Given the description of an element on the screen output the (x, y) to click on. 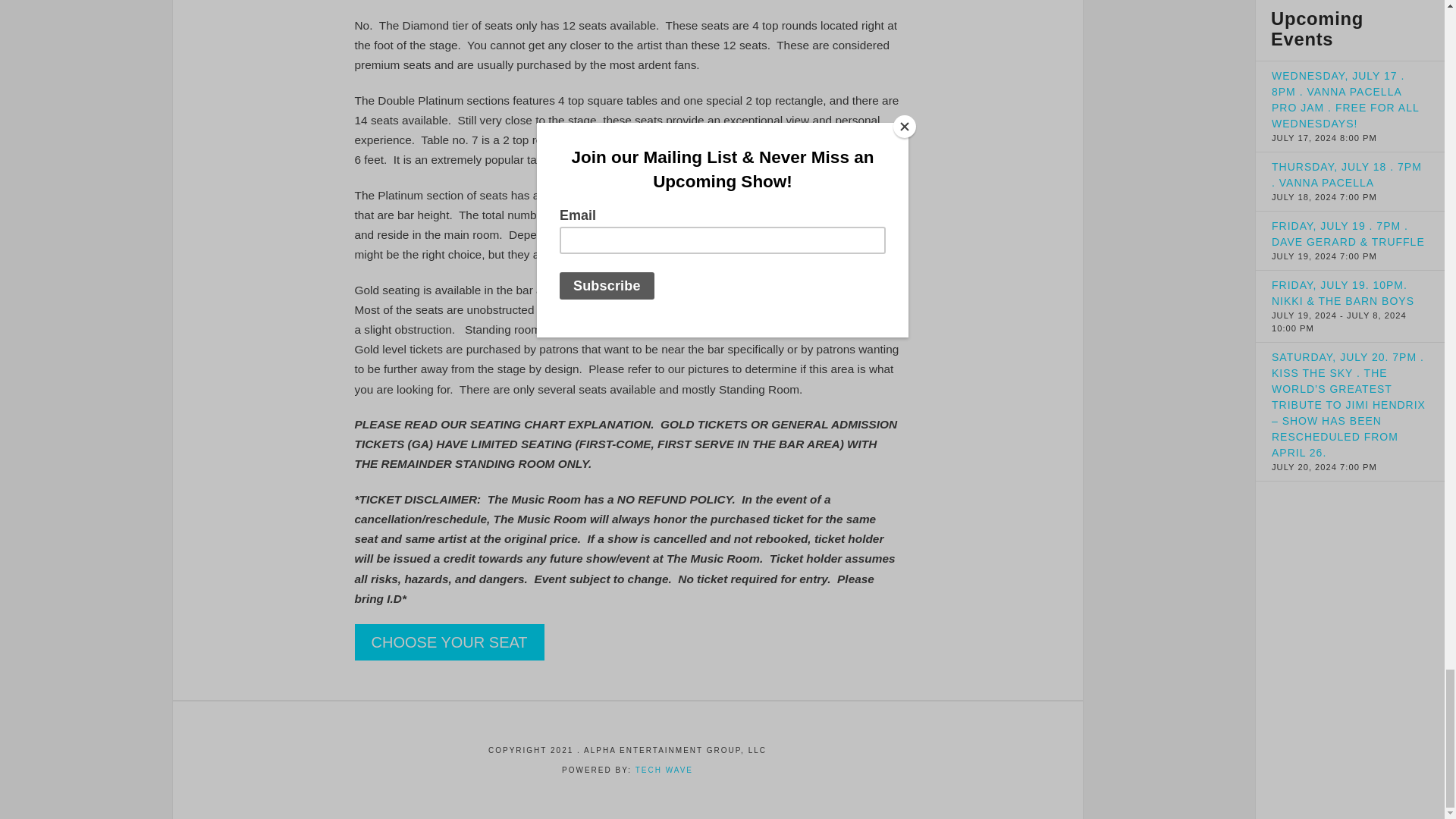
TECH WAVE (663, 769)
CHOOSE YOUR SEAT (449, 642)
